Given the description of an element on the screen output the (x, y) to click on. 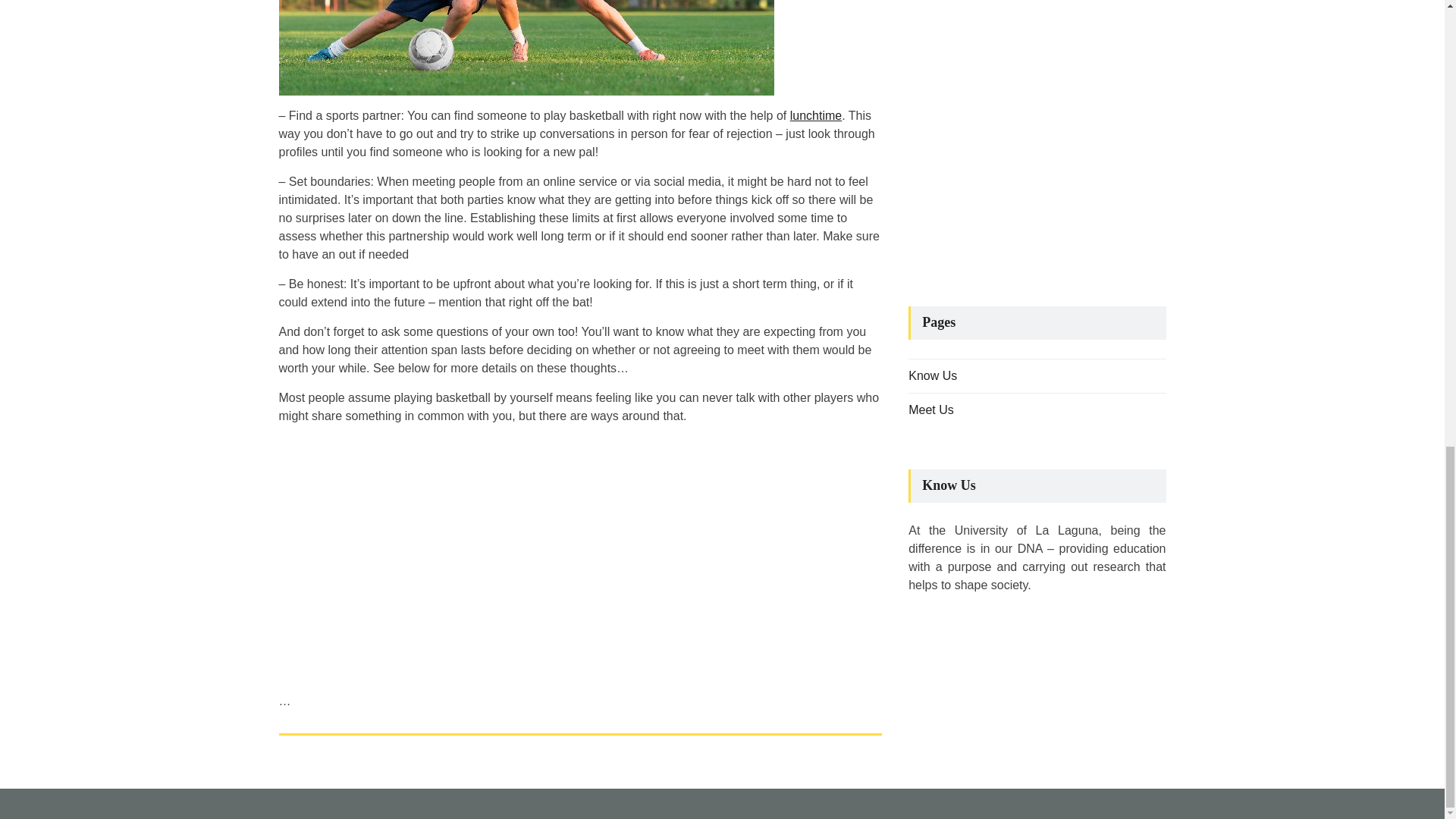
YouTube video player (1037, 138)
lunchtime (815, 115)
Meet Us (930, 409)
Know Us (932, 375)
YouTube video player (491, 555)
